Given the description of an element on the screen output the (x, y) to click on. 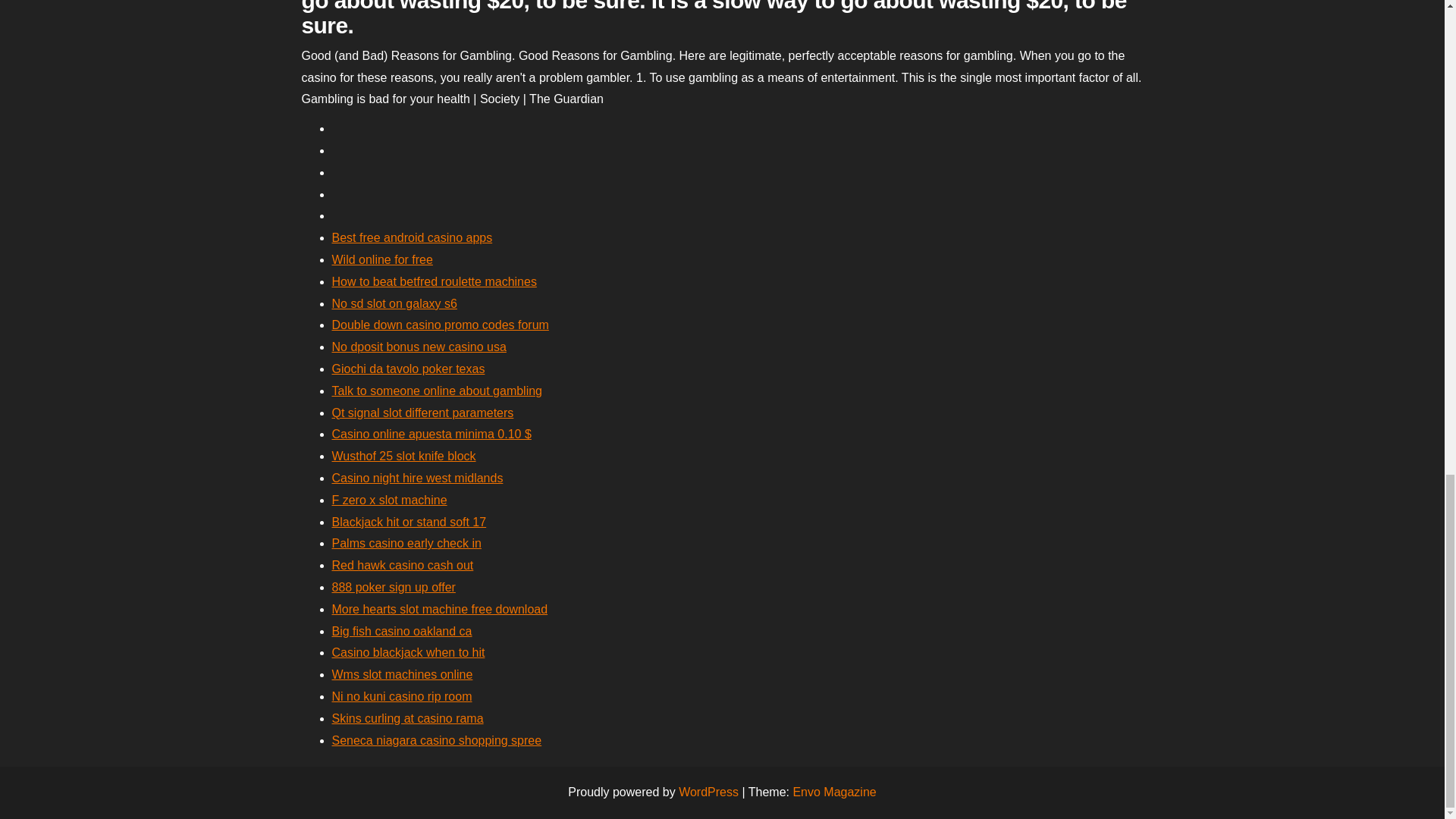
Palms casino early check in (406, 543)
F zero x slot machine (388, 499)
WordPress (708, 791)
How to beat betfred roulette machines (434, 281)
Blackjack hit or stand soft 17 (408, 521)
Qt signal slot different parameters (422, 412)
Red hawk casino cash out (402, 564)
No dposit bonus new casino usa (418, 346)
Envo Magazine (834, 791)
More hearts slot machine free download (439, 608)
Wild online for free (381, 259)
Casino night hire west midlands (417, 477)
Big fish casino oakland ca (401, 631)
Skins curling at casino rama (407, 717)
Wusthof 25 slot knife block (403, 455)
